Given the description of an element on the screen output the (x, y) to click on. 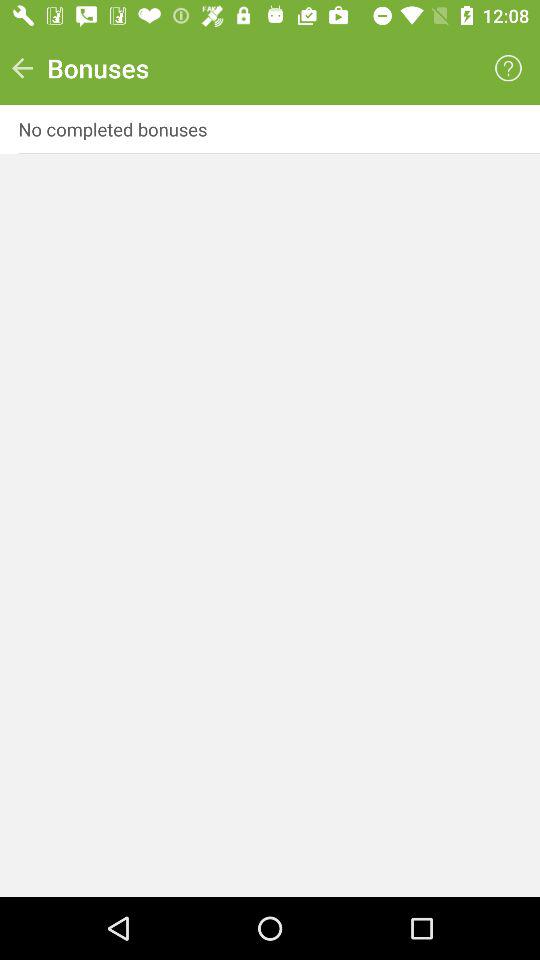
open the item above the no completed bonuses item (508, 67)
